Given the description of an element on the screen output the (x, y) to click on. 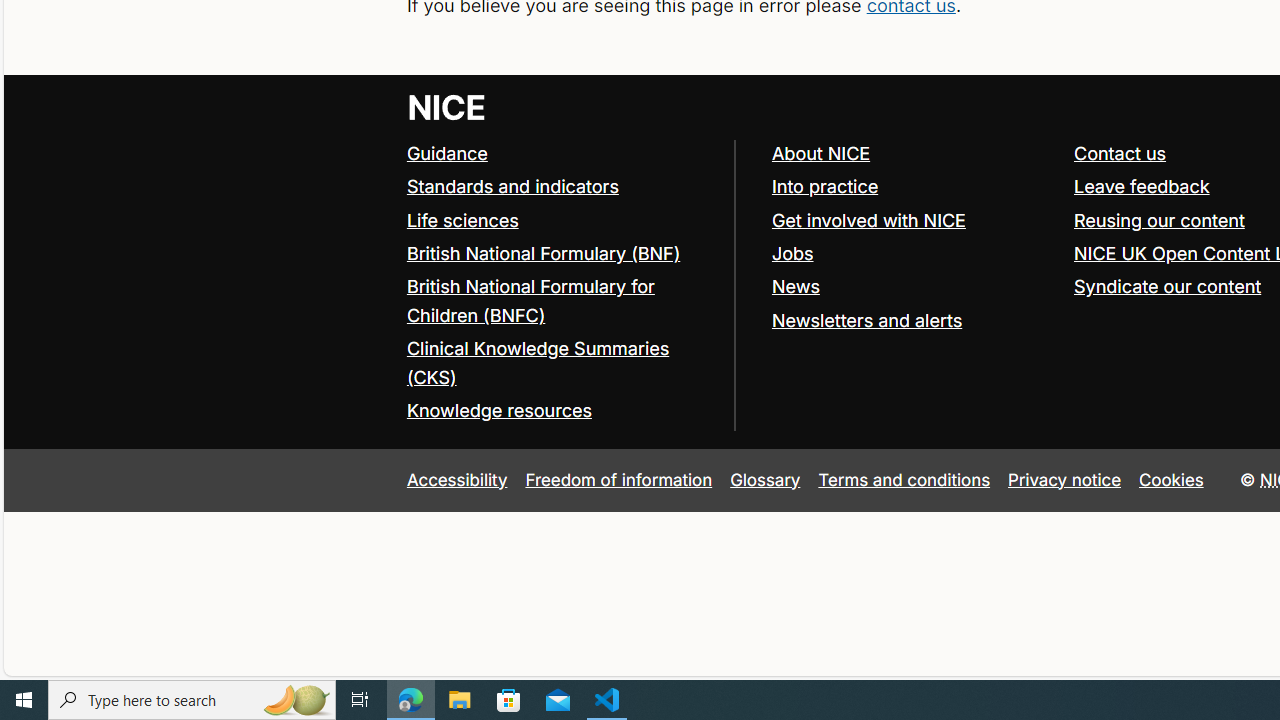
Syndicate our content (1167, 285)
Newsletters and alerts (913, 321)
Accessibility (456, 479)
Knowledge resources (560, 411)
Terms and conditions (903, 479)
Guidance (560, 153)
Reusing our content (1159, 219)
Glossary (765, 479)
Into practice (913, 187)
Newsletters and alerts (866, 319)
Privacy notice (1065, 479)
Freedom of information (618, 479)
About NICE (820, 152)
Freedom of information (618, 479)
